Given the description of an element on the screen output the (x, y) to click on. 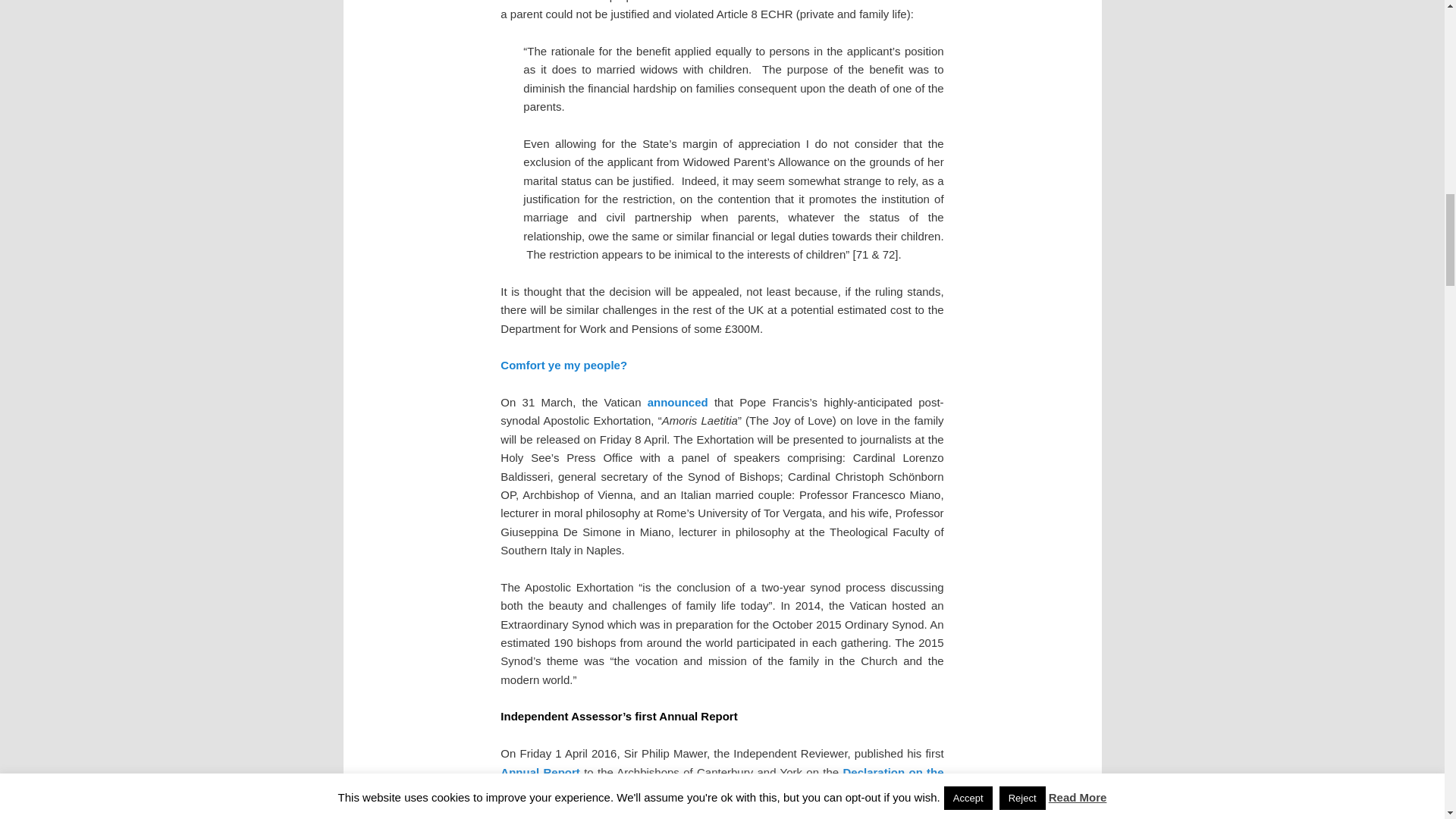
Comfort ye my people? (563, 364)
Annual Report (539, 771)
announced (677, 401)
